Given the description of an element on the screen output the (x, y) to click on. 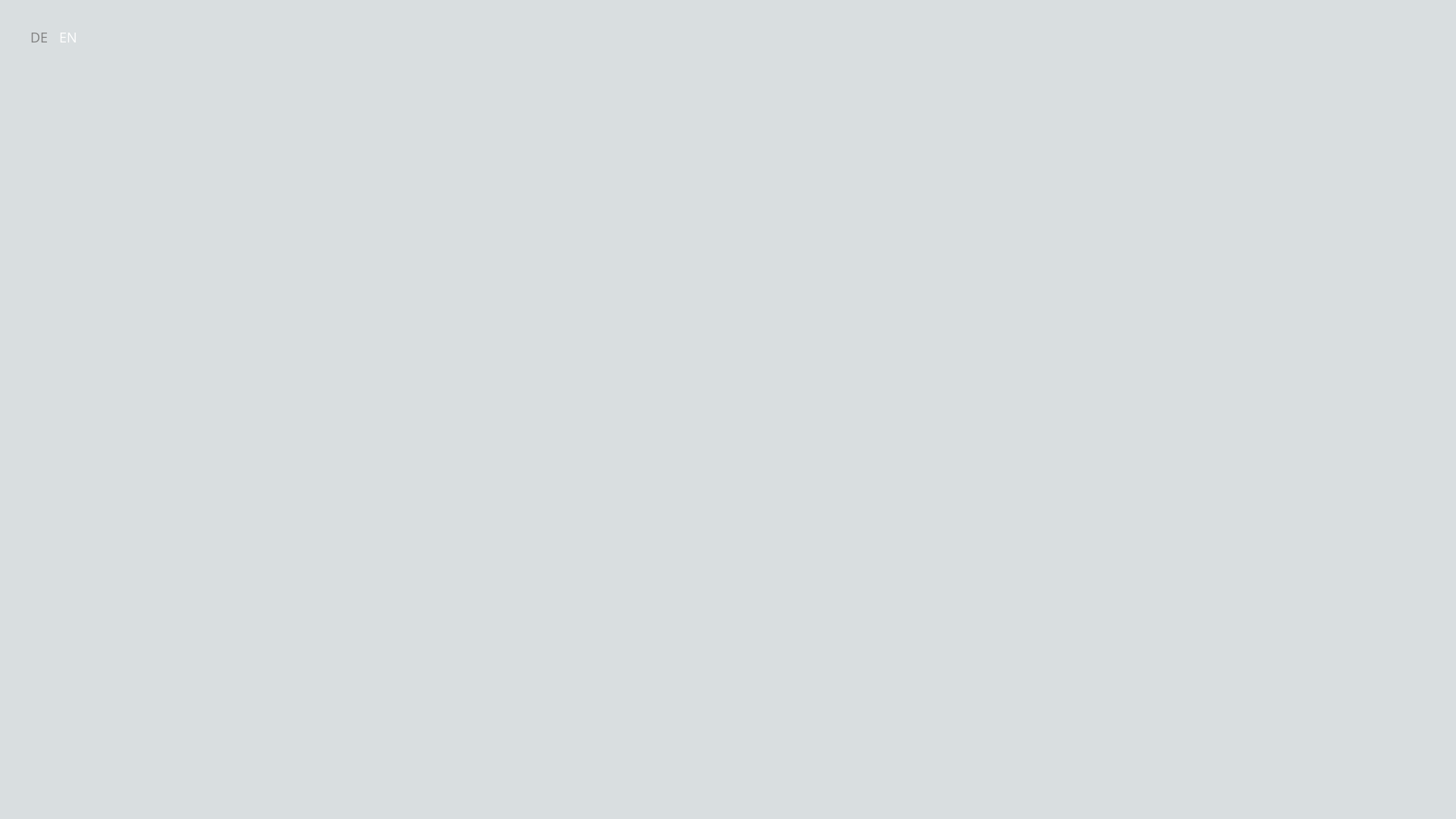
EN Element type: text (71, 37)
DE Element type: text (42, 37)
